Given the description of an element on the screen output the (x, y) to click on. 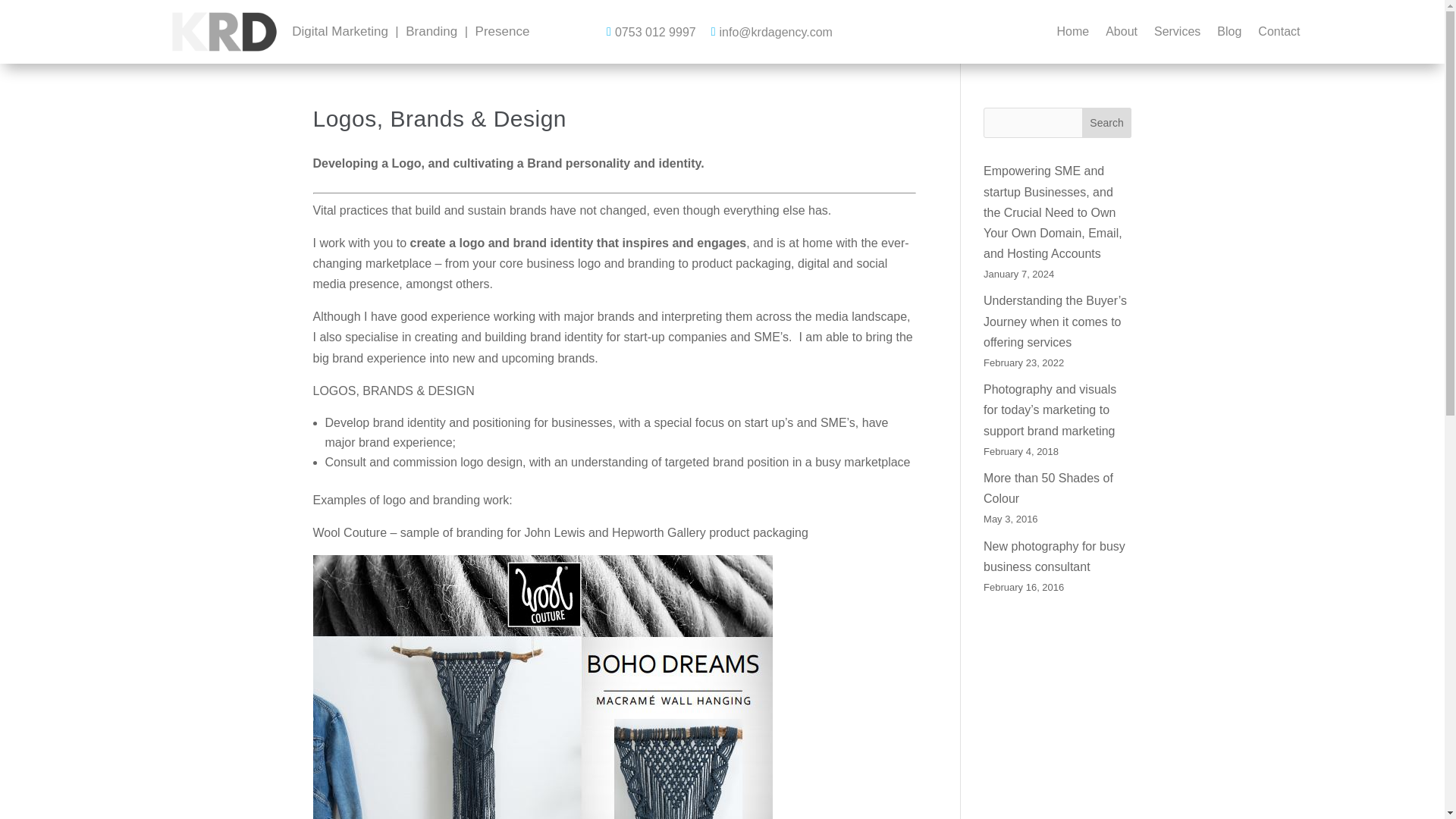
Blog (1229, 34)
Contact (1278, 34)
Services (1176, 34)
About (1121, 34)
More than 50 Shades of Colour (1048, 488)
New photography for busy business consultant (1054, 556)
Search (1106, 122)
Home (1073, 34)
Blog (1229, 34)
